Given the description of an element on the screen output the (x, y) to click on. 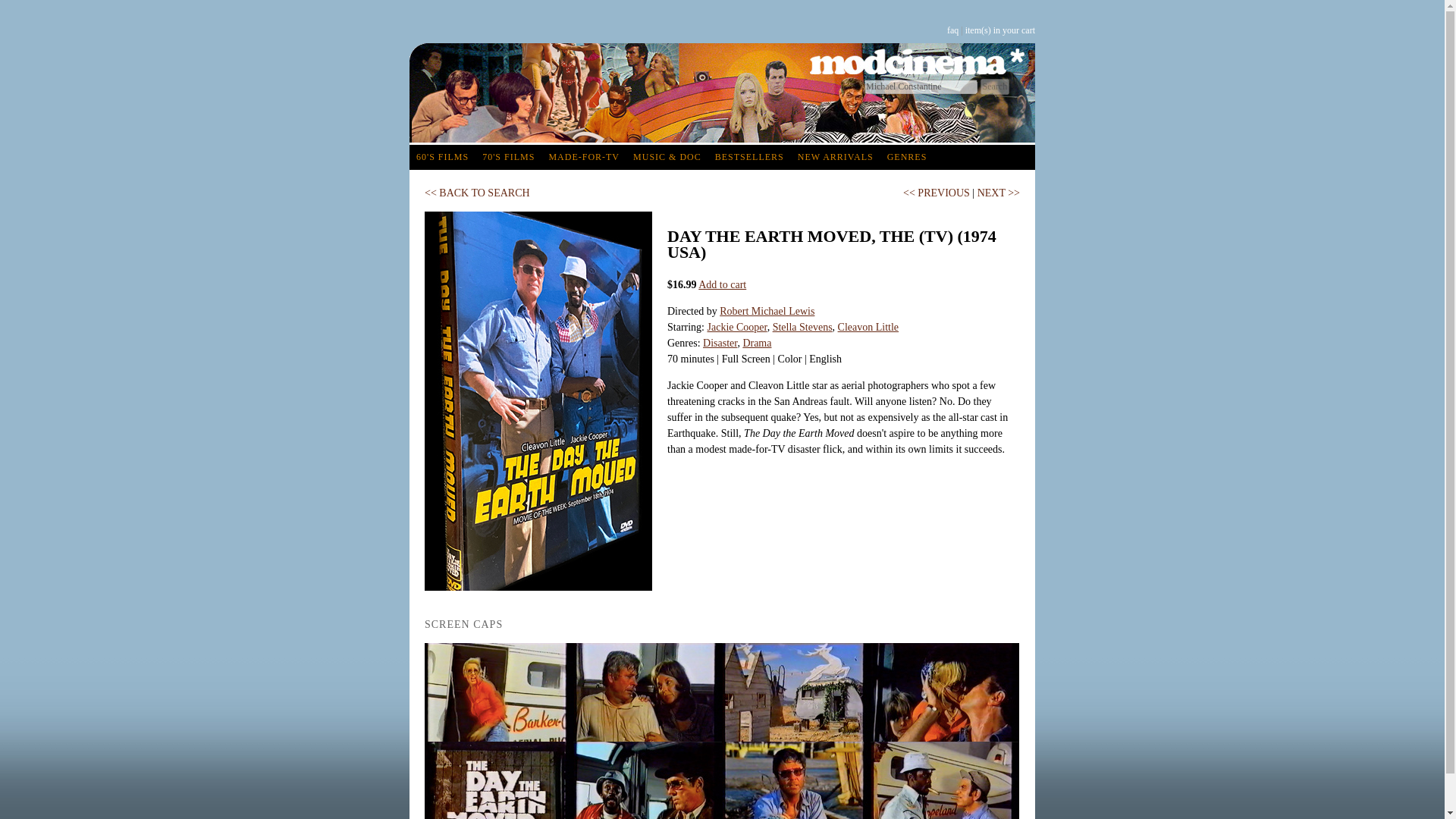
Michael Constantine (920, 86)
Drama (756, 342)
Stella Stevens (802, 326)
Disaster (719, 342)
GENRES (907, 156)
faq (952, 30)
60'S FILMS (442, 156)
NEW ARRIVALS (835, 156)
Robert Michael Lewis (766, 310)
Cleavon Little (868, 326)
